Given the description of an element on the screen output the (x, y) to click on. 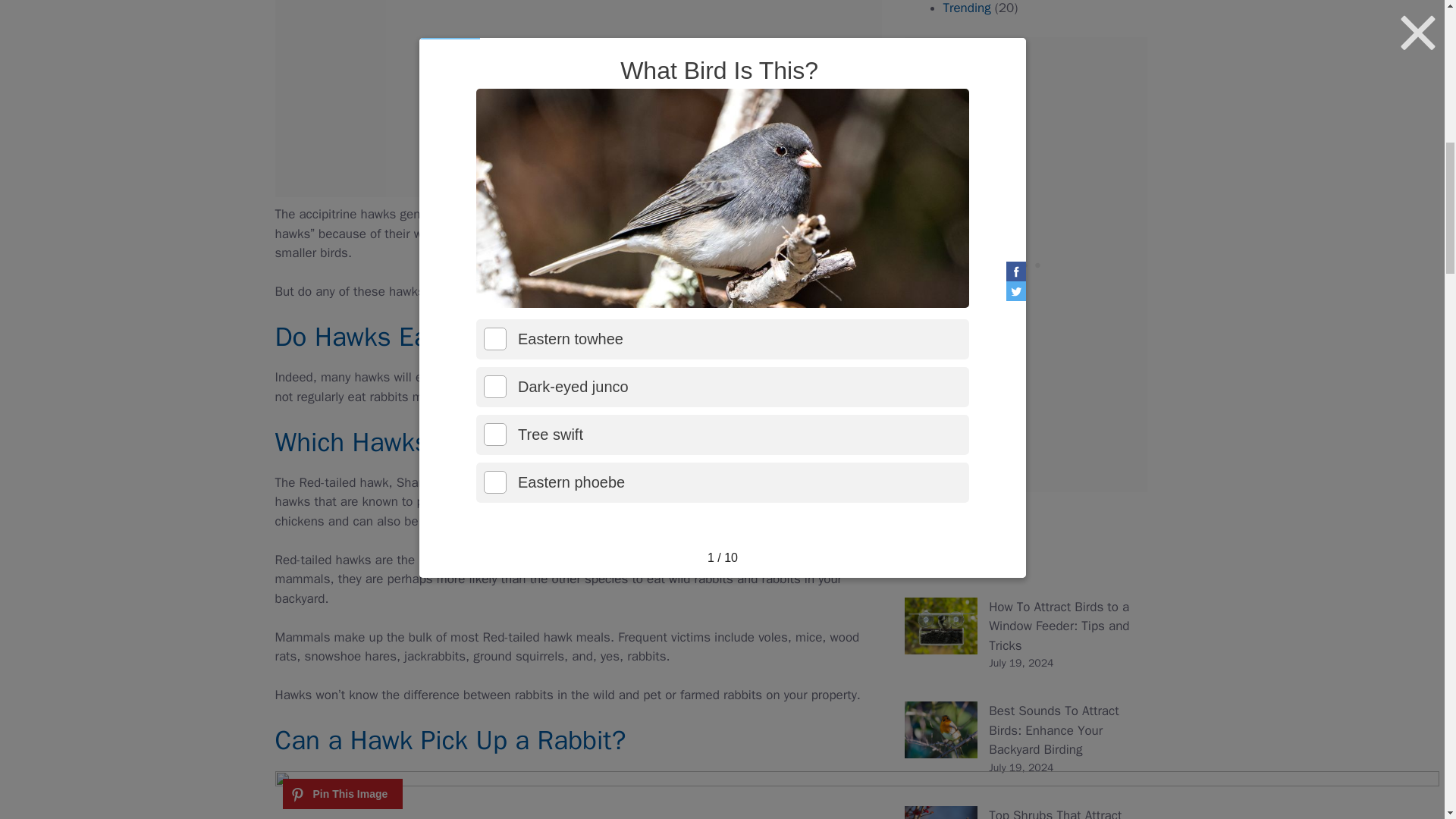
Pin This Image (342, 793)
Trending (967, 7)
